Given the description of an element on the screen output the (x, y) to click on. 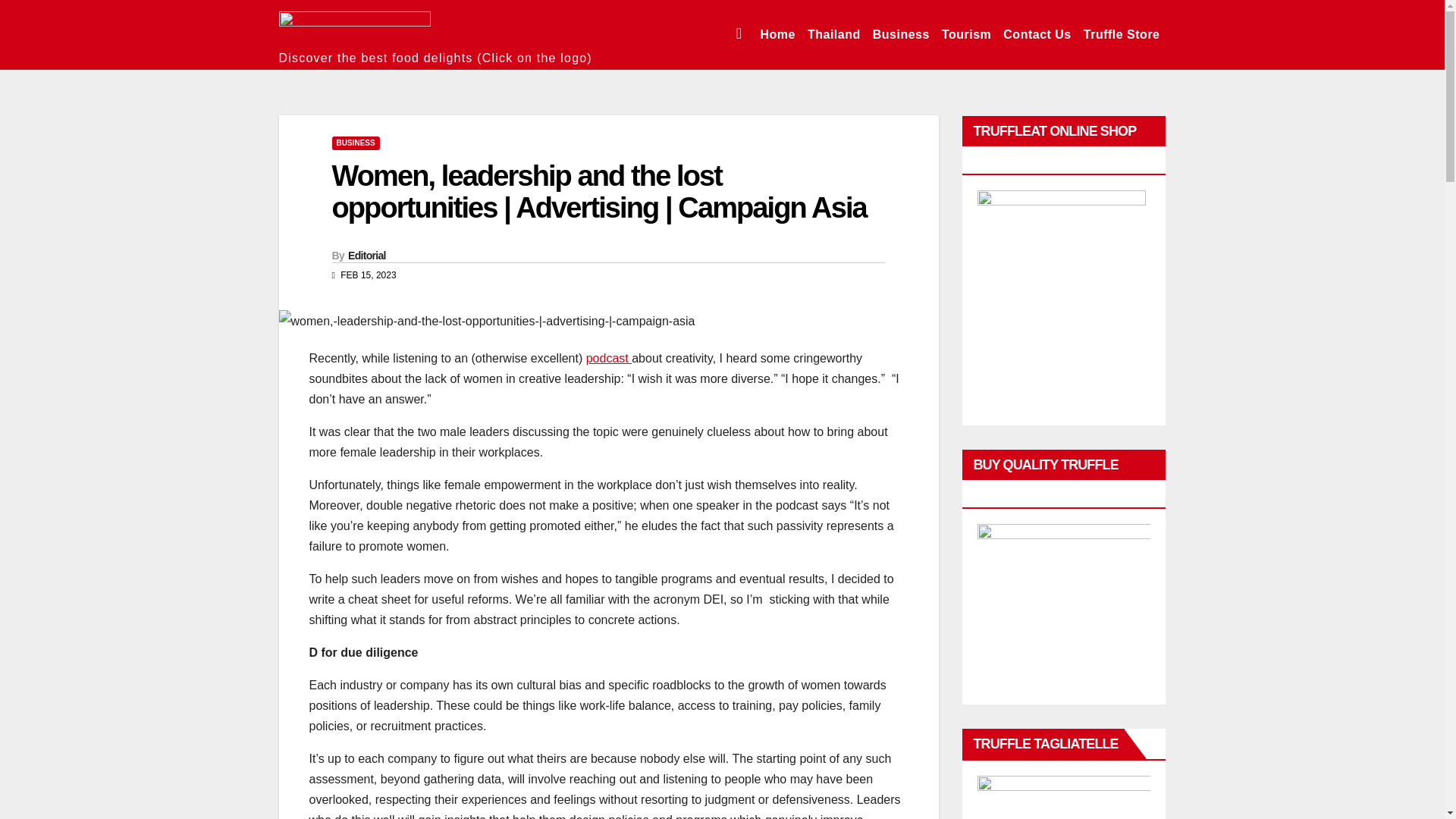
Thailand (834, 34)
Thailand (834, 34)
Business (901, 34)
Business (901, 34)
podcast (608, 358)
Tourism (966, 34)
Contact Us (1037, 34)
Truffle Store (1121, 34)
Editorial (366, 255)
Truffle Store (1121, 34)
Contact Us (1037, 34)
Tourism (966, 34)
BUSINESS (355, 142)
